Given the description of an element on the screen output the (x, y) to click on. 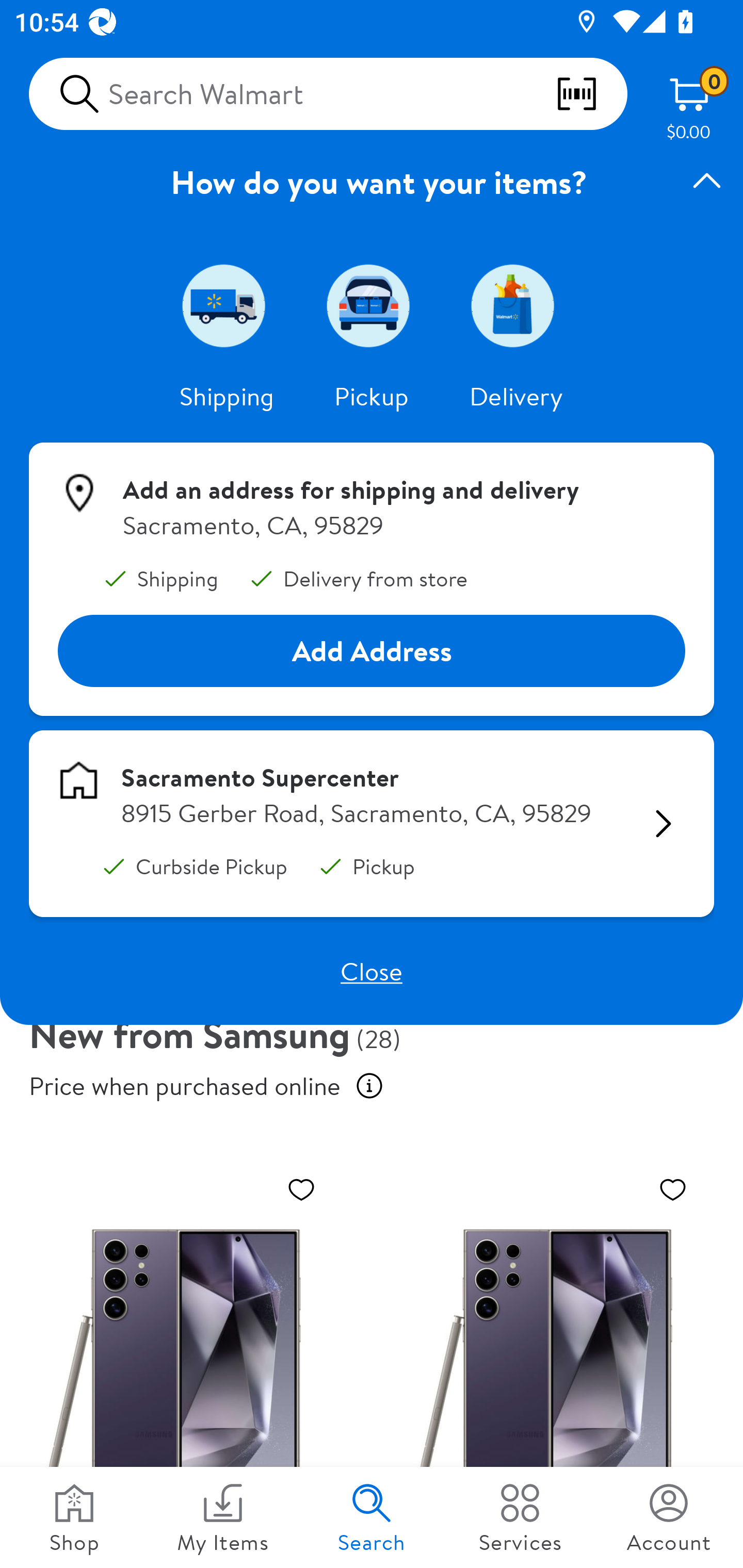
Search Walmart scan barcodes qr codes and more (327, 94)
scan barcodes qr codes and more (591, 94)
How do you want your items? expanded (371, 181)
Shipping 1 of 3 (226, 305)
Pickup 2 of 3 (371, 305)
Delivery 3 of 3 (515, 305)
Add Address (371, 650)
Close (371, 970)
Price when purchased online (184, 1085)
Price when purchased online (369, 1085)
Shop (74, 1517)
My Items (222, 1517)
Services (519, 1517)
Account (668, 1517)
